Given the description of an element on the screen output the (x, y) to click on. 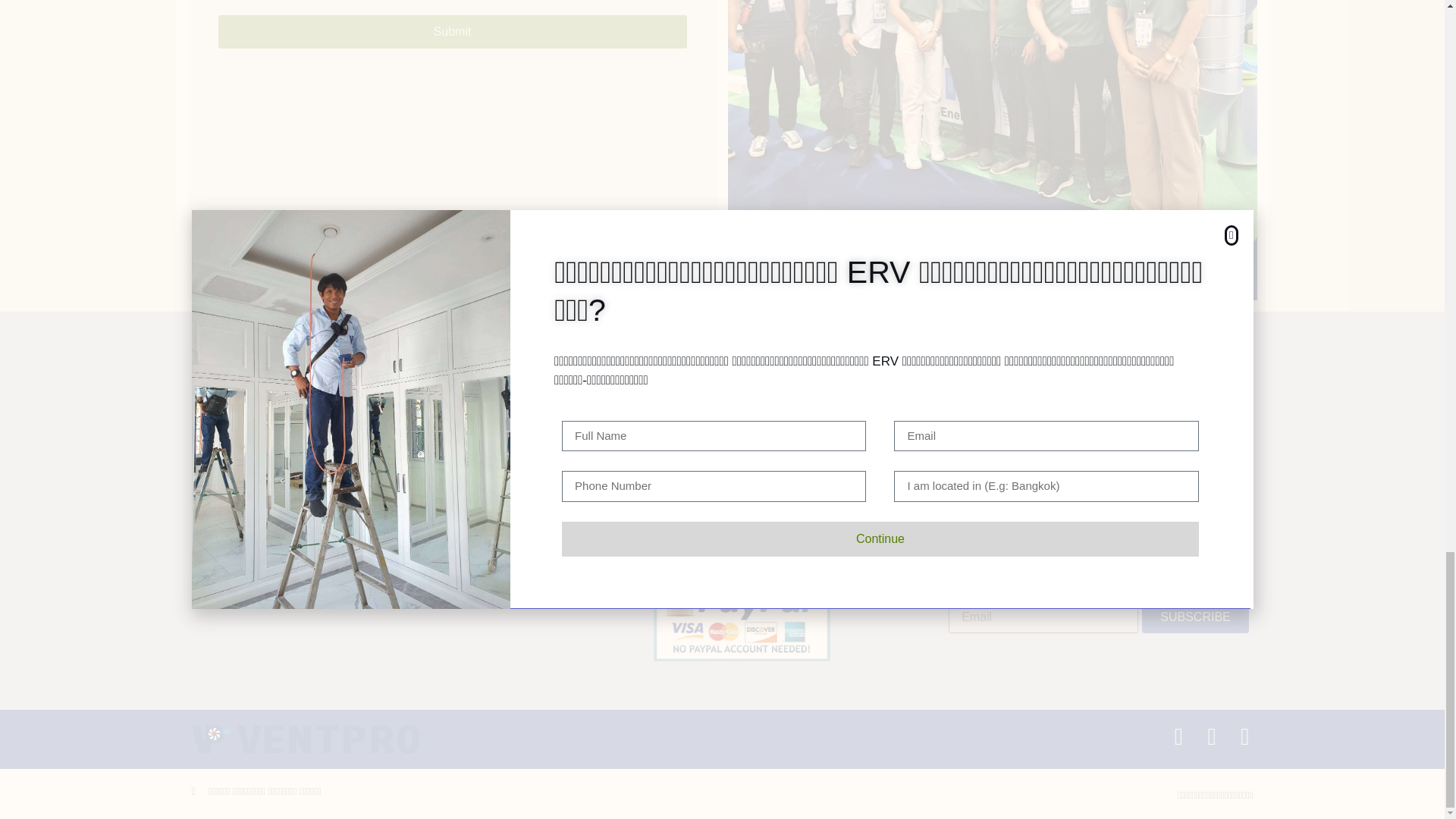
Submit (452, 31)
Ventpro Blog (317, 386)
Ventpro Facebook (317, 432)
Ventpro Youtube (317, 409)
Bangkok (1061, 386)
Moderate (1058, 438)
Submit (452, 31)
Ventpro Instagram (317, 455)
Swegon Air Academy (317, 363)
